Given the description of an element on the screen output the (x, y) to click on. 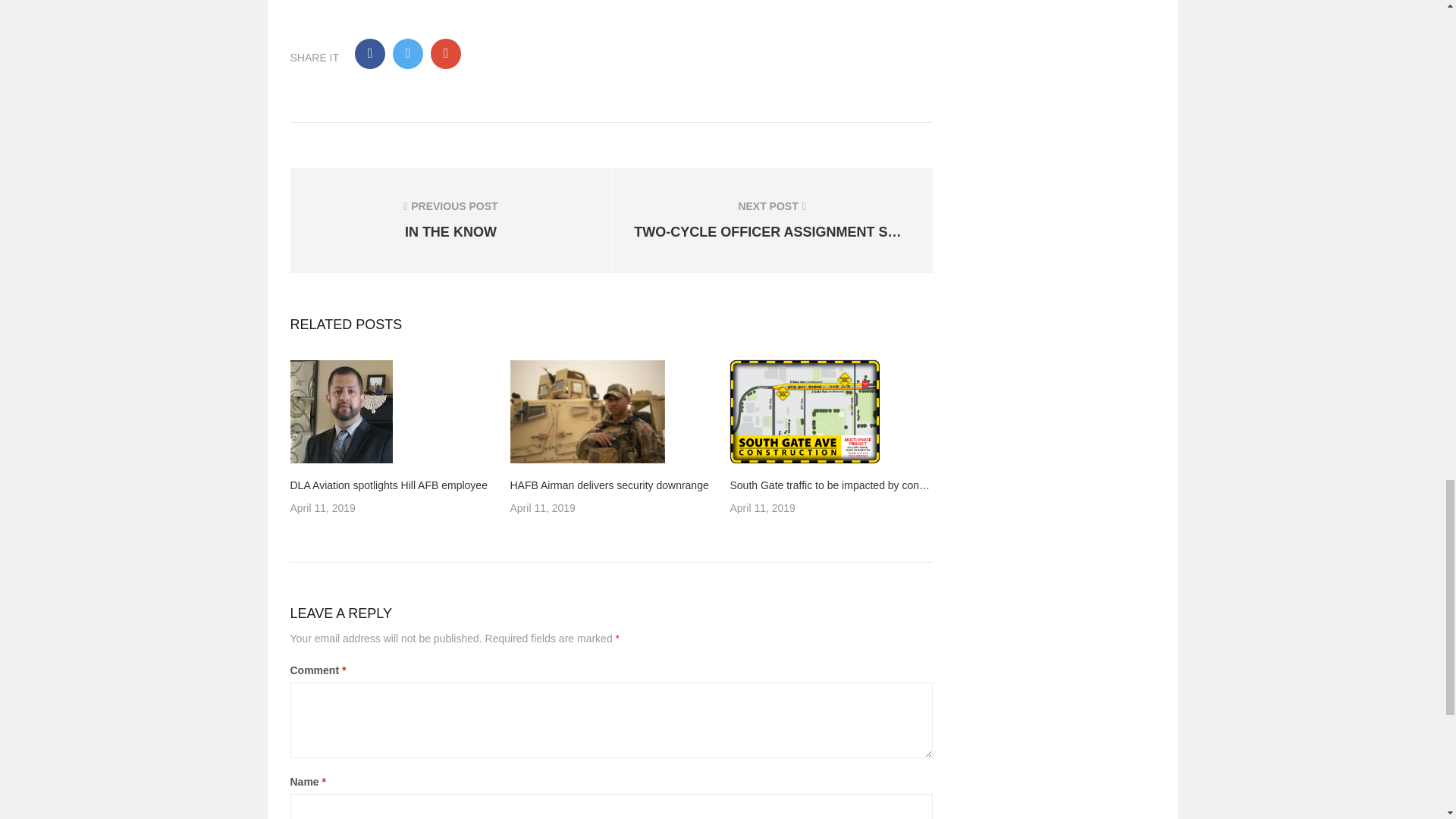
Share on Facebook (370, 53)
5cb5078f8d8f5.image (340, 411)
5cb507260169f.image (586, 411)
5cb506ddc64dc.image (450, 220)
Share on Google Plus (804, 411)
Share on Twitter (445, 53)
